Given the description of an element on the screen output the (x, y) to click on. 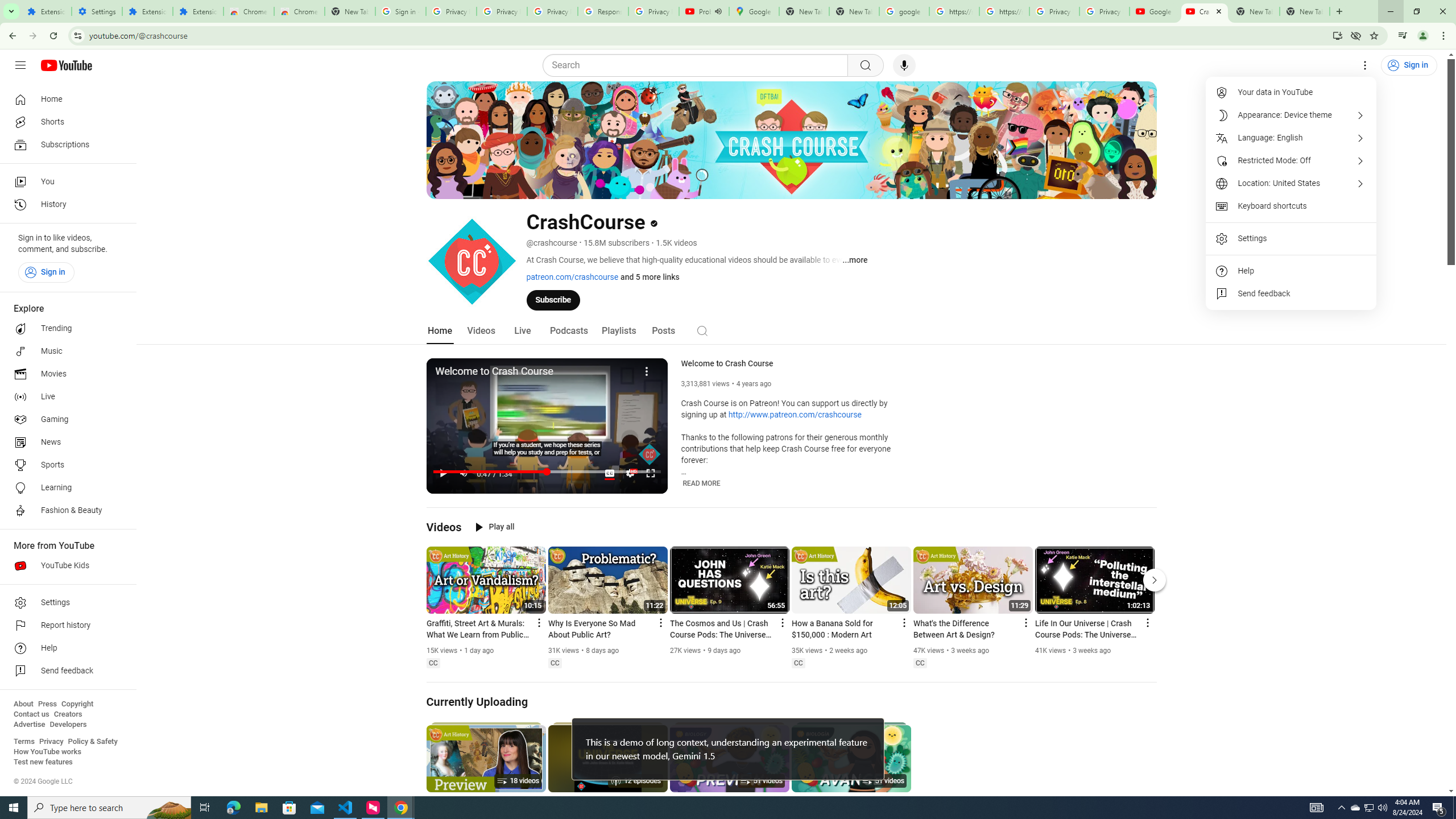
READ MORE (701, 482)
Action menu (1146, 622)
Mute (m) (463, 472)
Google - YouTube (1154, 11)
Next (1154, 579)
Seek slider (546, 471)
Full screen keyboard shortcut f (650, 472)
Shorts (64, 121)
Subscriptions (64, 144)
